Given the description of an element on the screen output the (x, y) to click on. 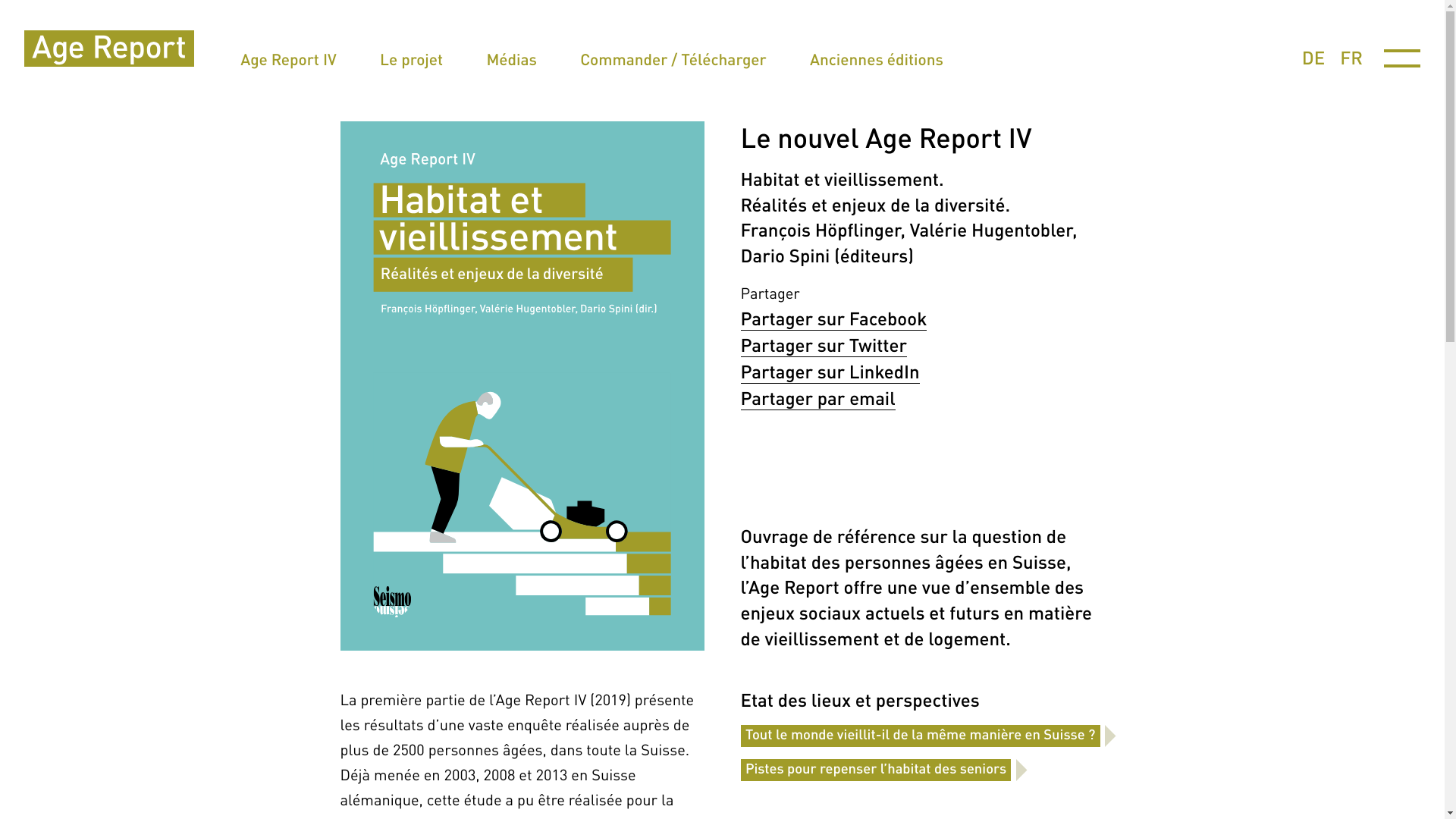
FR Element type: text (1350, 57)
Partager sur LinkedIn Element type: text (829, 371)
Partager sur Facebook Element type: text (833, 318)
Age Report IV Element type: text (288, 58)
  Element type: text (109, 48)
Partager sur Twitter Element type: text (823, 344)
Le projet Element type: text (410, 58)
Partager par email Element type: text (817, 397)
DE Element type: text (1313, 57)
